Given the description of an element on the screen output the (x, y) to click on. 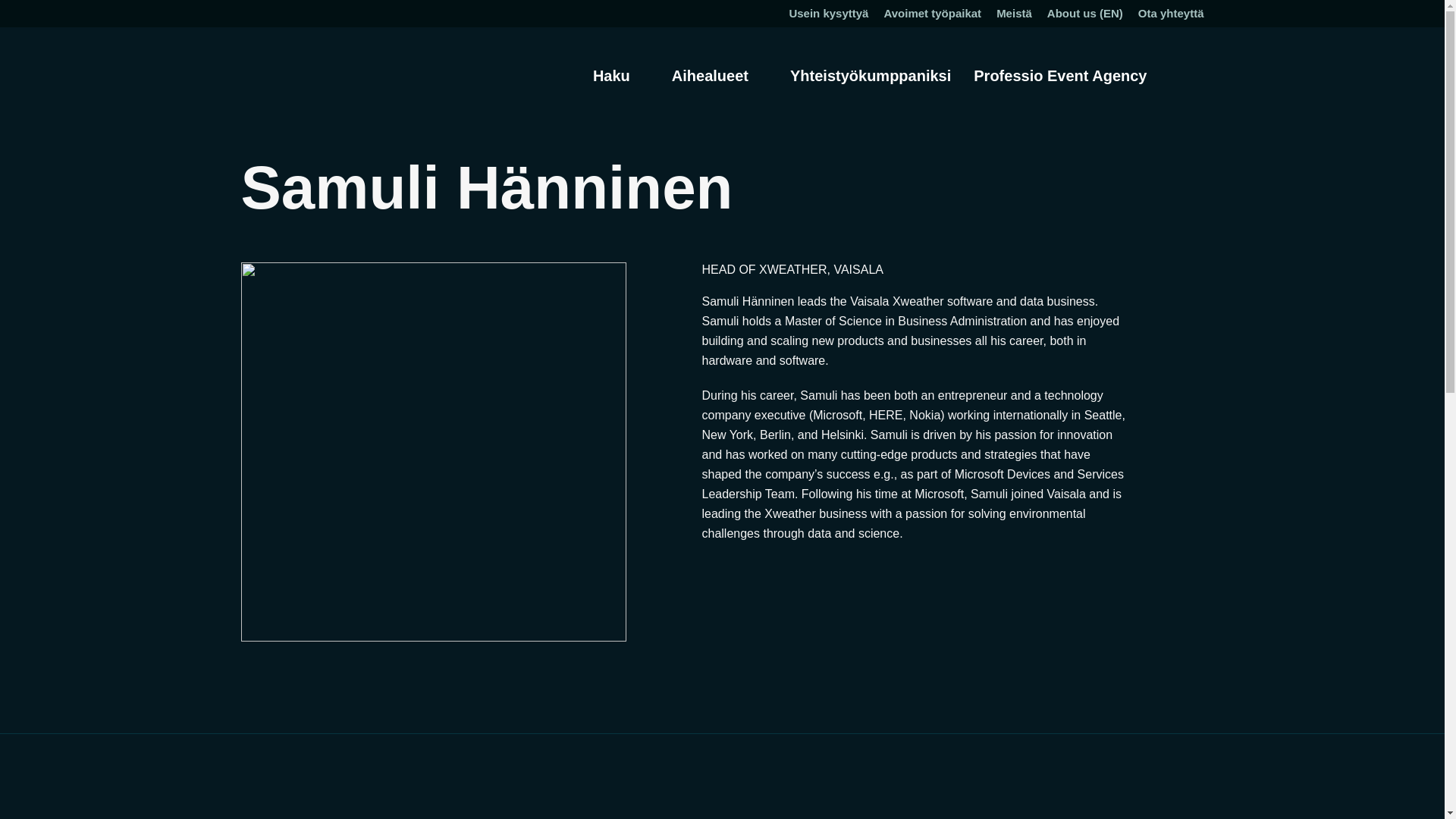
Haku (620, 75)
Aihealueet (719, 75)
Professio (303, 68)
